Given the description of an element on the screen output the (x, y) to click on. 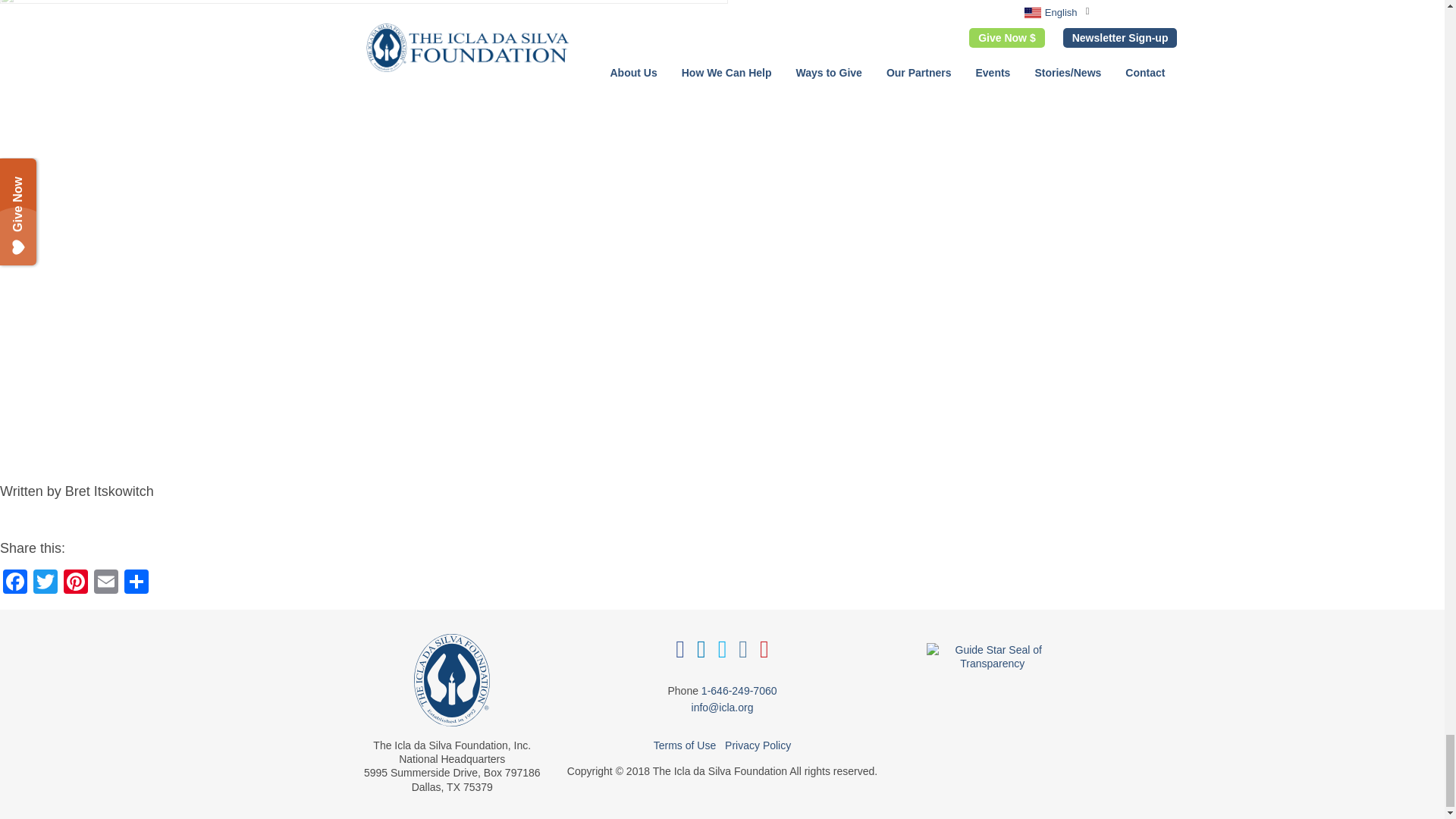
Pinterest (75, 583)
Twitter (45, 583)
Email (105, 583)
Facebook (15, 583)
